Given the description of an element on the screen output the (x, y) to click on. 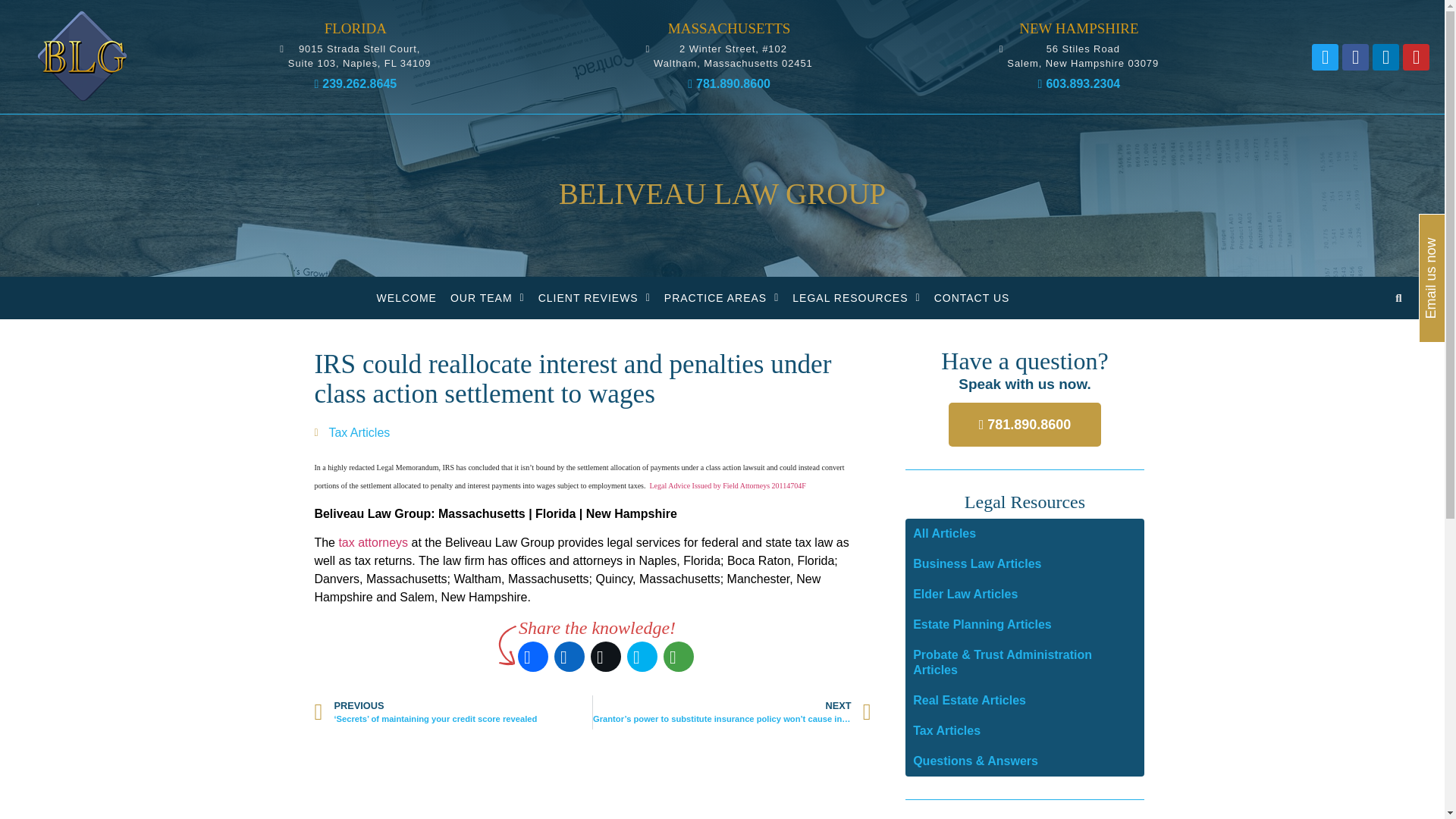
WELCOME (406, 297)
OUR TEAM (486, 297)
239.262.8645 (355, 82)
More Options (679, 656)
CONTACT US (972, 297)
LEGAL RESOURCES (856, 297)
781.890.8600 (354, 55)
PRACTICE AREAS (728, 82)
LinkedIn (720, 297)
CLIENT REVIEWS (569, 656)
Facebook (594, 297)
603.893.2304 (533, 656)
PrintFriendly (1078, 55)
